Given the description of an element on the screen output the (x, y) to click on. 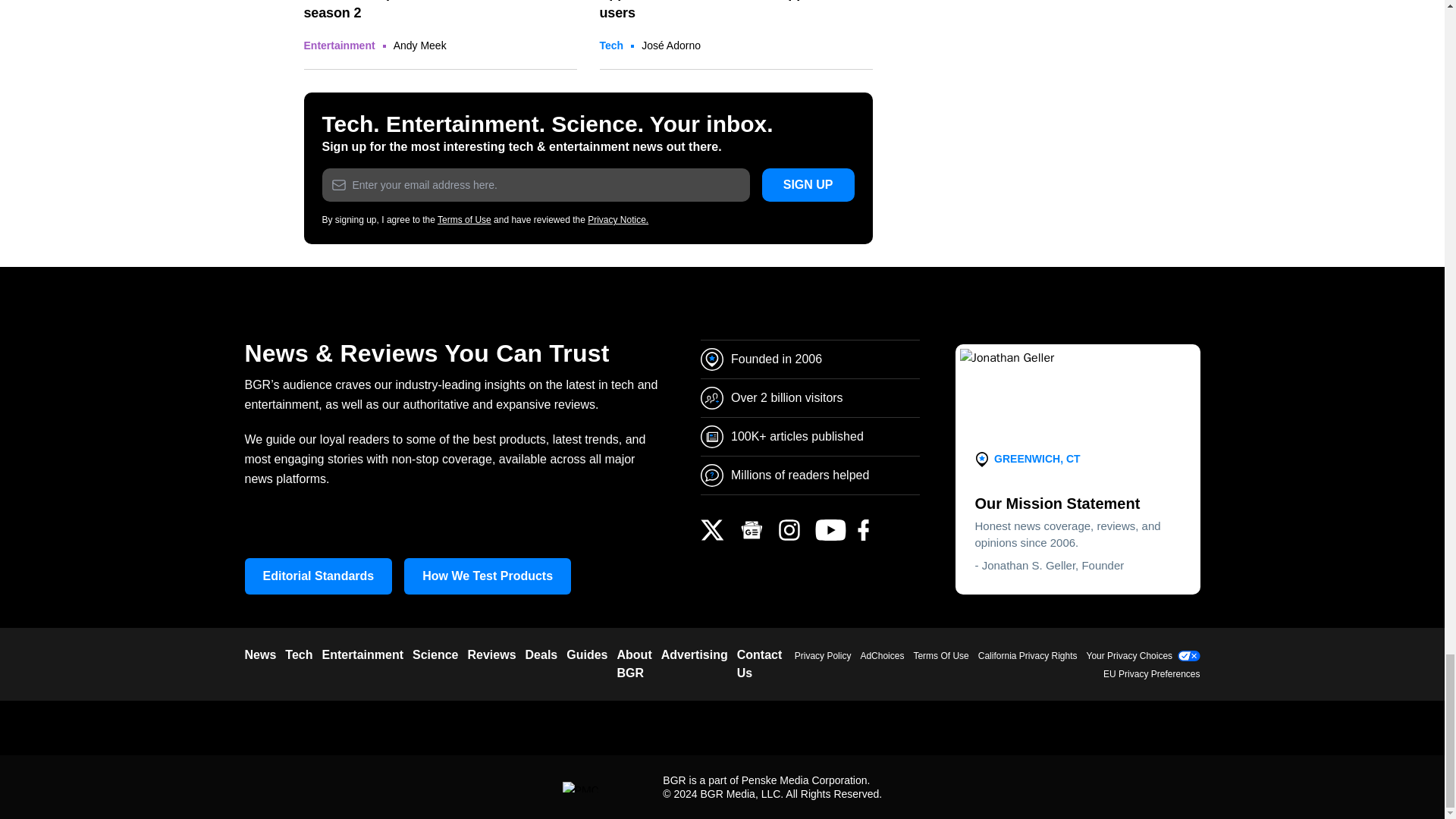
Posts by Andy Meek (419, 45)
